Given the description of an element on the screen output the (x, y) to click on. 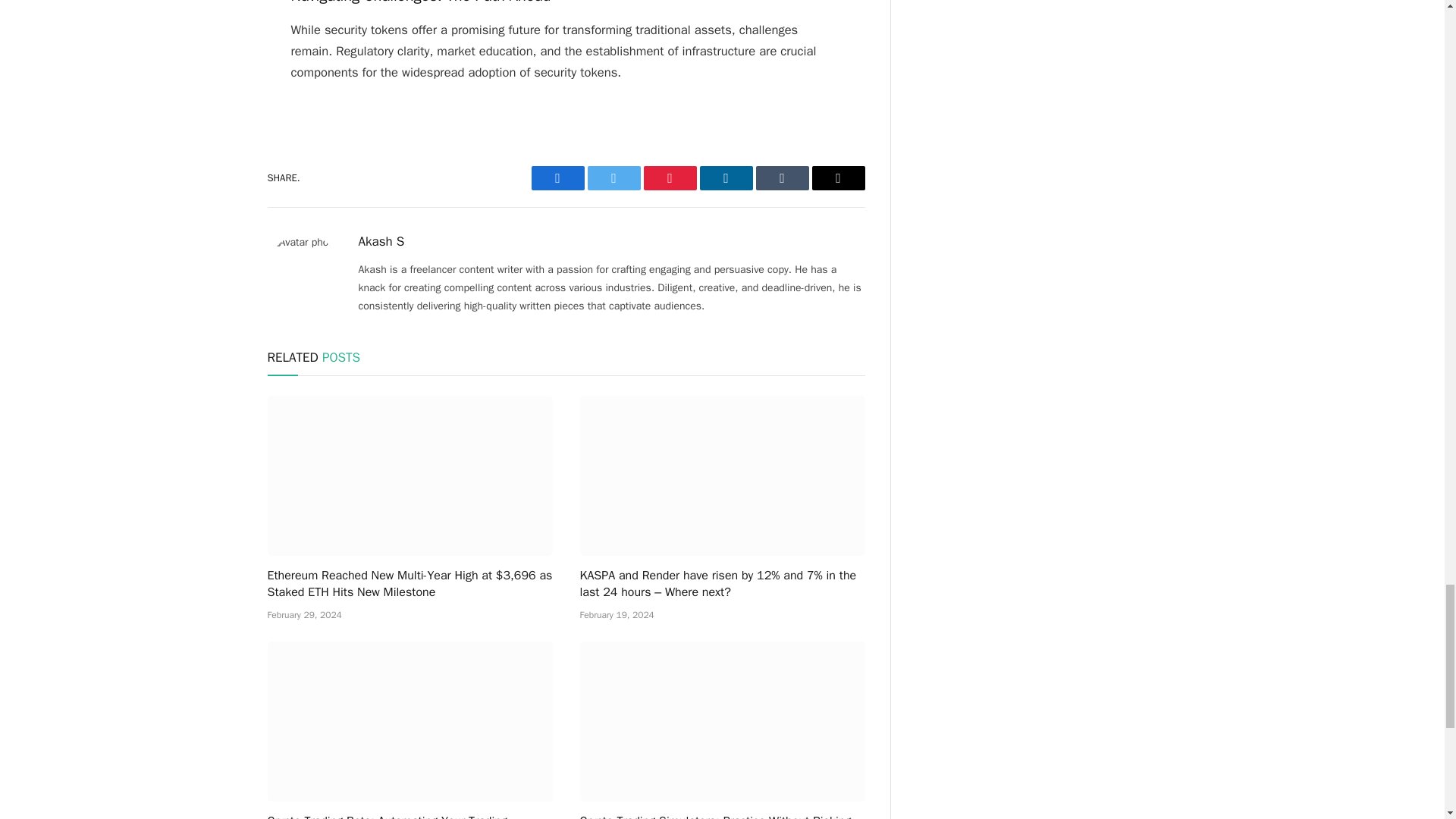
Share on Facebook (557, 178)
LinkedIn (725, 178)
Pinterest (669, 178)
Share via Email (837, 178)
Share on Tumblr (781, 178)
Posts by Akash S (381, 241)
Share on Pinterest (669, 178)
Share on LinkedIn (725, 178)
Facebook (557, 178)
Tumblr (781, 178)
Twitter (613, 178)
